Given the description of an element on the screen output the (x, y) to click on. 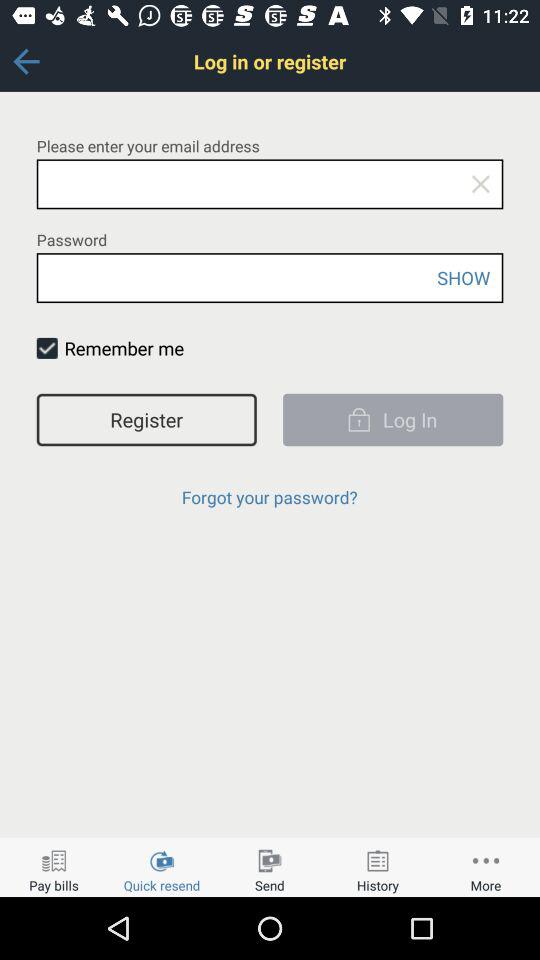
select the button at the top left corner (26, 61)
